Given the description of an element on the screen output the (x, y) to click on. 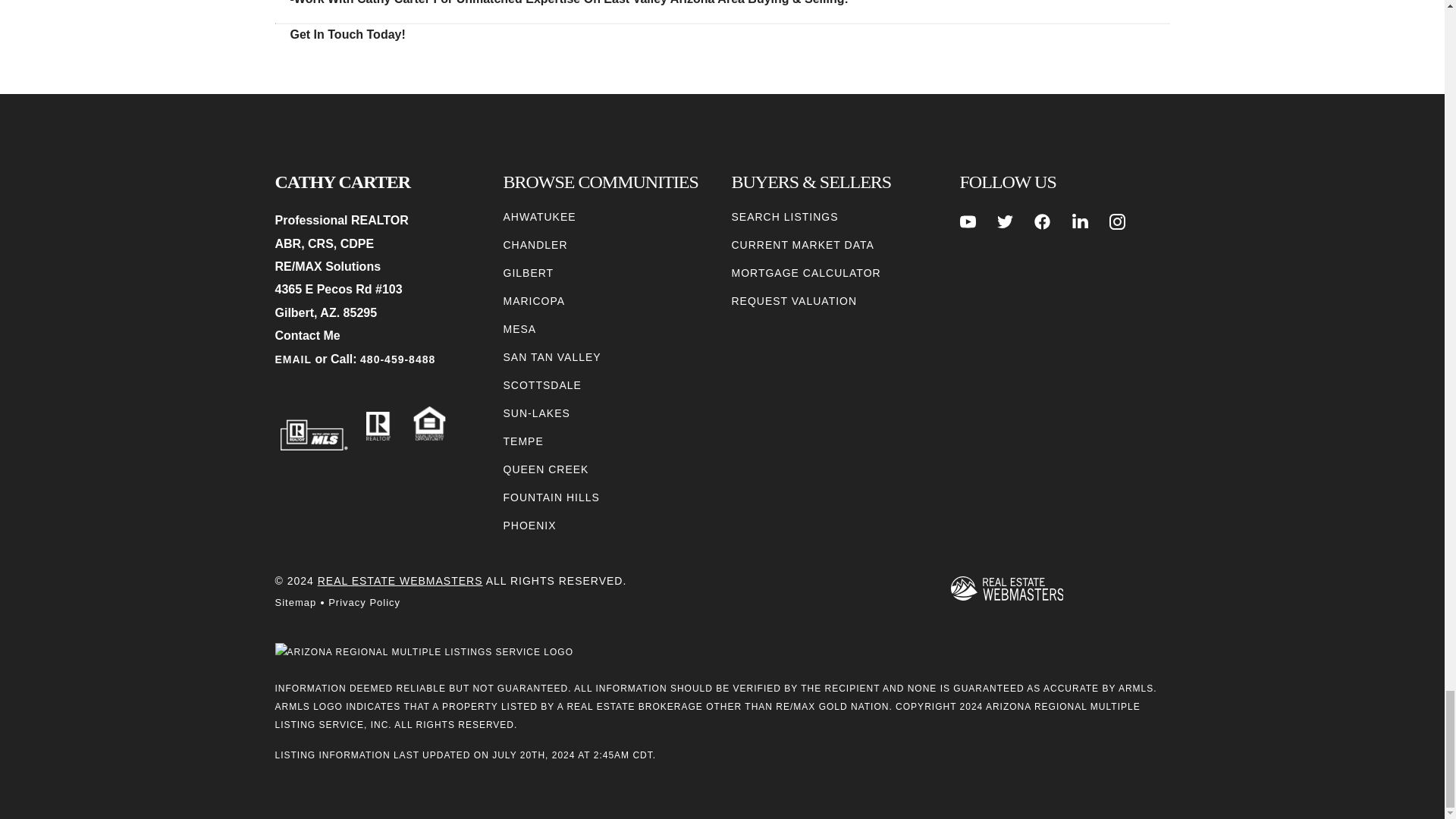
FACEBOOK (1041, 221)
LINKEDIN (1079, 221)
YOUTUBE (967, 221)
TWITTER (1005, 221)
